Given the description of an element on the screen output the (x, y) to click on. 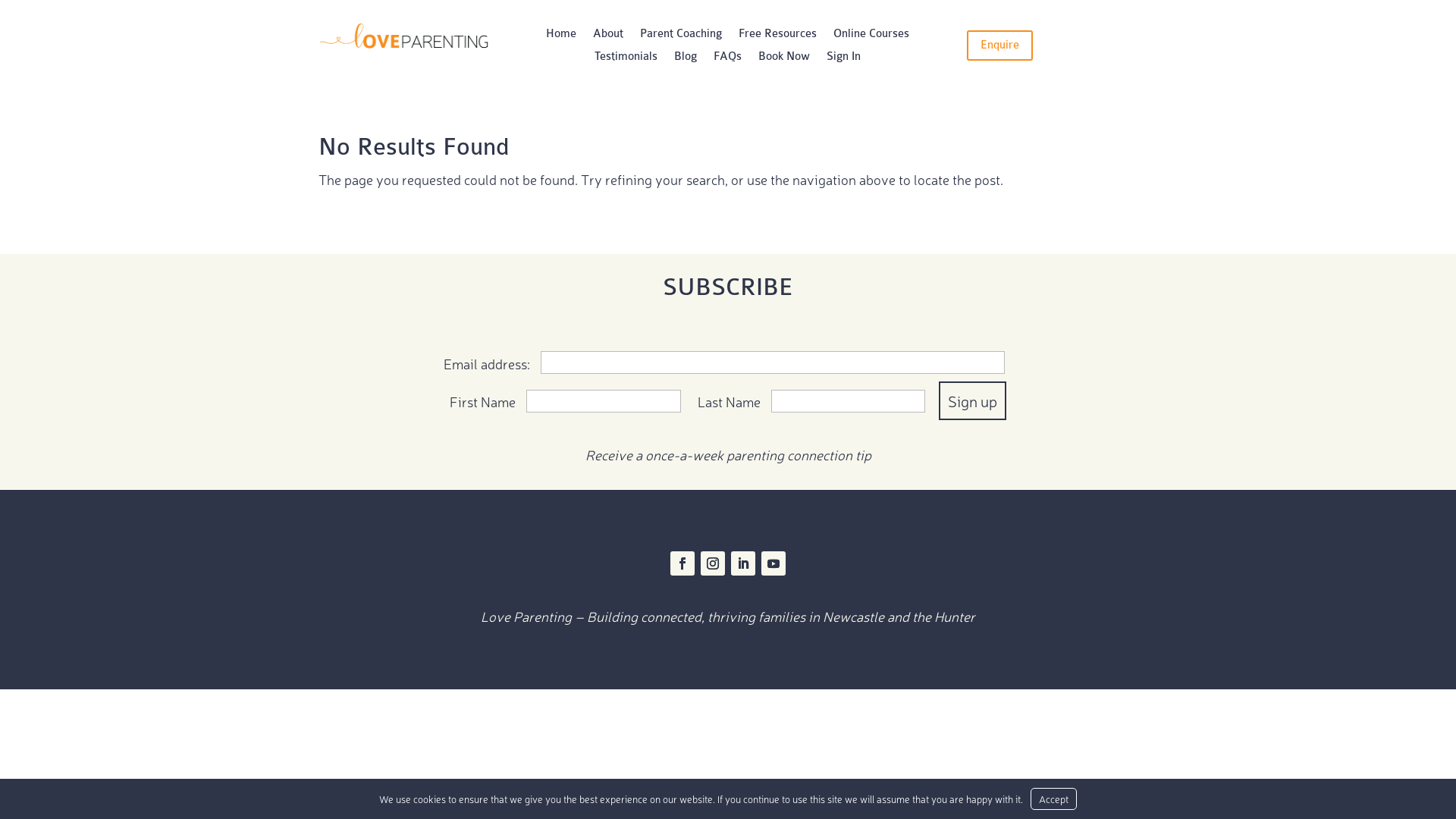
Follow on Youtube Element type: hover (773, 563)
Blog Element type: text (685, 59)
Accept Element type: text (1053, 798)
FAQs Element type: text (727, 59)
Online Courses Element type: text (871, 36)
Testimonials Element type: text (625, 59)
Follow on Facebook Element type: hover (682, 563)
Sign In Element type: text (843, 59)
Love Parenting Newcastle Element type: hover (403, 37)
Free Resources Element type: text (777, 36)
Book Now Element type: text (783, 59)
Follow on LinkedIn Element type: hover (743, 563)
Enquire Element type: text (999, 45)
Parent Coaching Element type: text (680, 36)
Sign up Element type: text (972, 400)
About Element type: text (608, 36)
Follow on Instagram Element type: hover (712, 563)
Home Element type: text (561, 36)
